Given the description of an element on the screen output the (x, y) to click on. 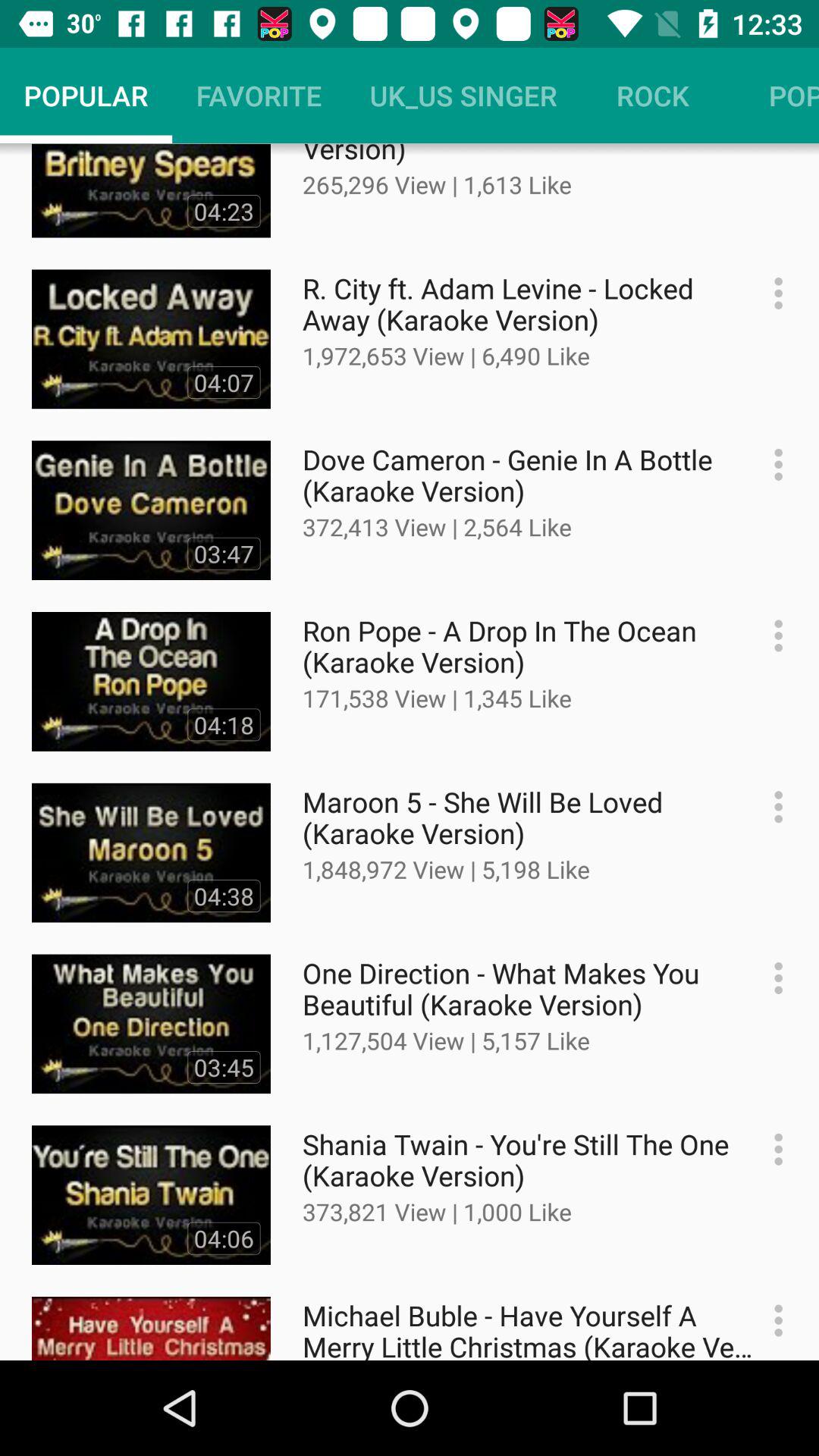
setting button (770, 1320)
